Given the description of an element on the screen output the (x, y) to click on. 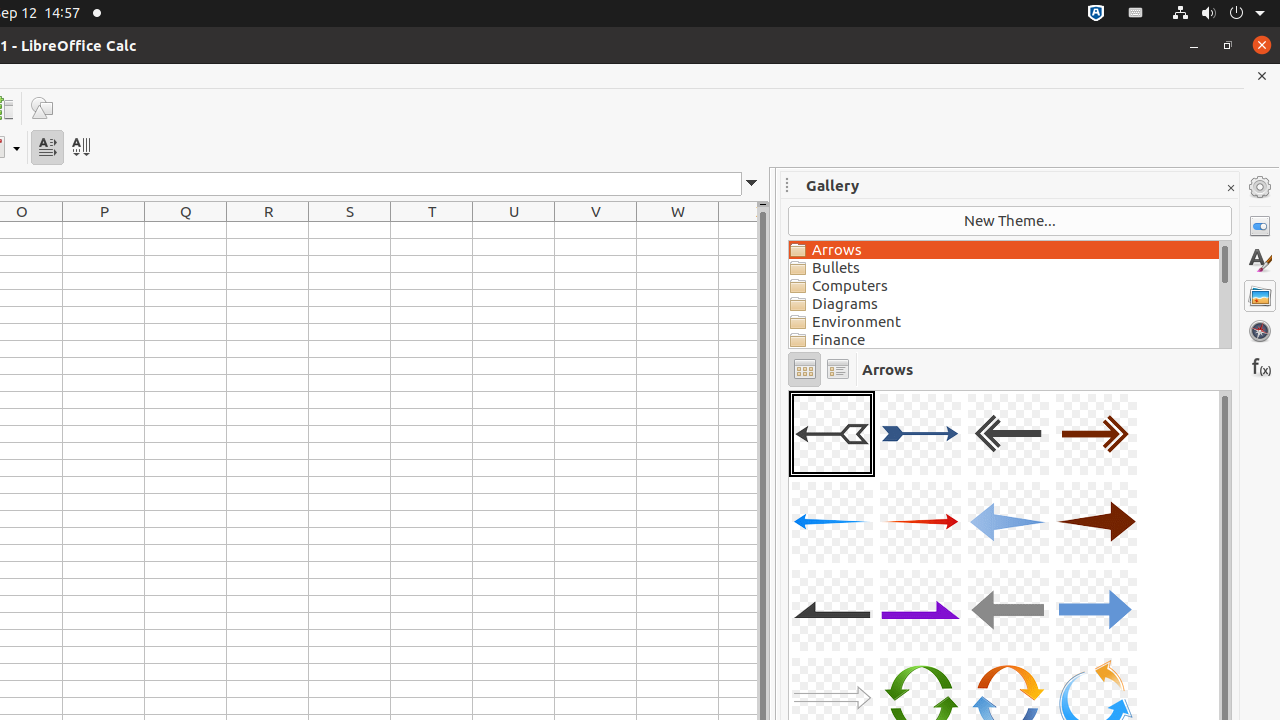
A45-TrendArrow-Red-GoUp Element type: list-item (789, 390)
V1 Element type: table-cell (596, 230)
P1 Element type: table-cell (104, 230)
Gallery Element type: radio-button (1260, 296)
A48-TrendArrow-Orange-TwoDirections Element type: list-item (789, 390)
